Given the description of an element on the screen output the (x, y) to click on. 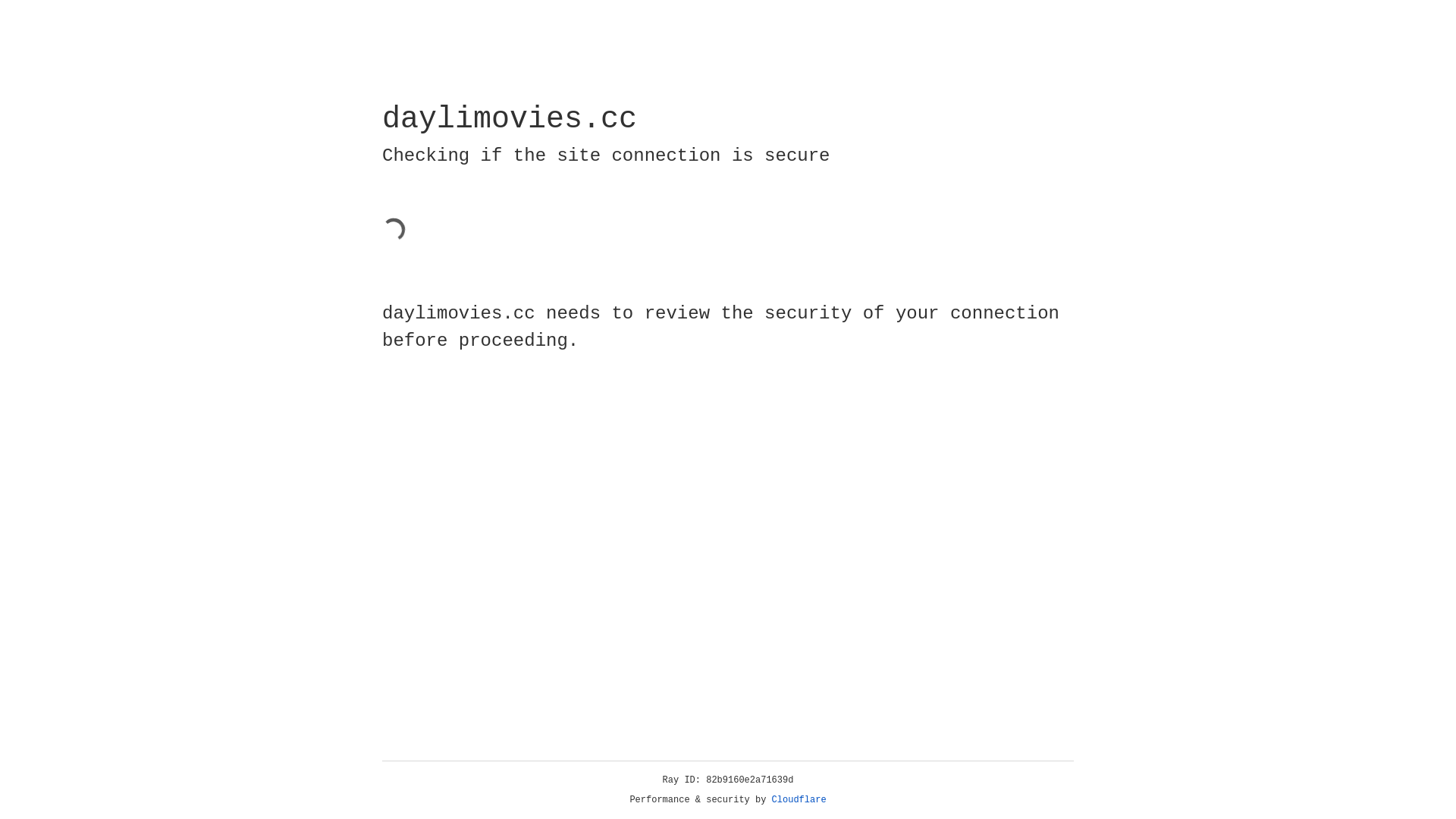
Cloudflare Element type: text (798, 799)
